Given the description of an element on the screen output the (x, y) to click on. 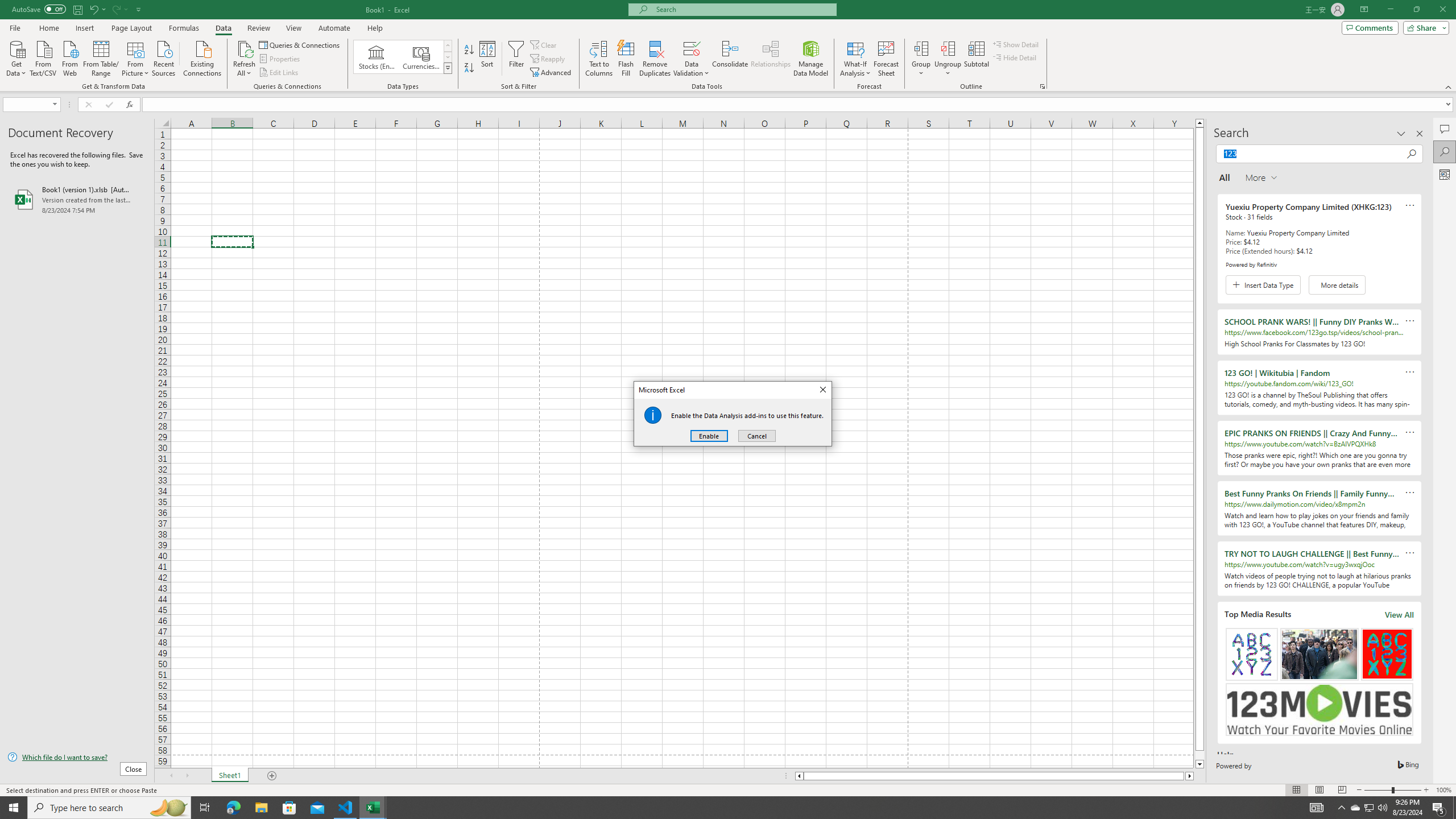
Start (13, 807)
Search highlights icon opens search home window (167, 807)
